Given the description of an element on the screen output the (x, y) to click on. 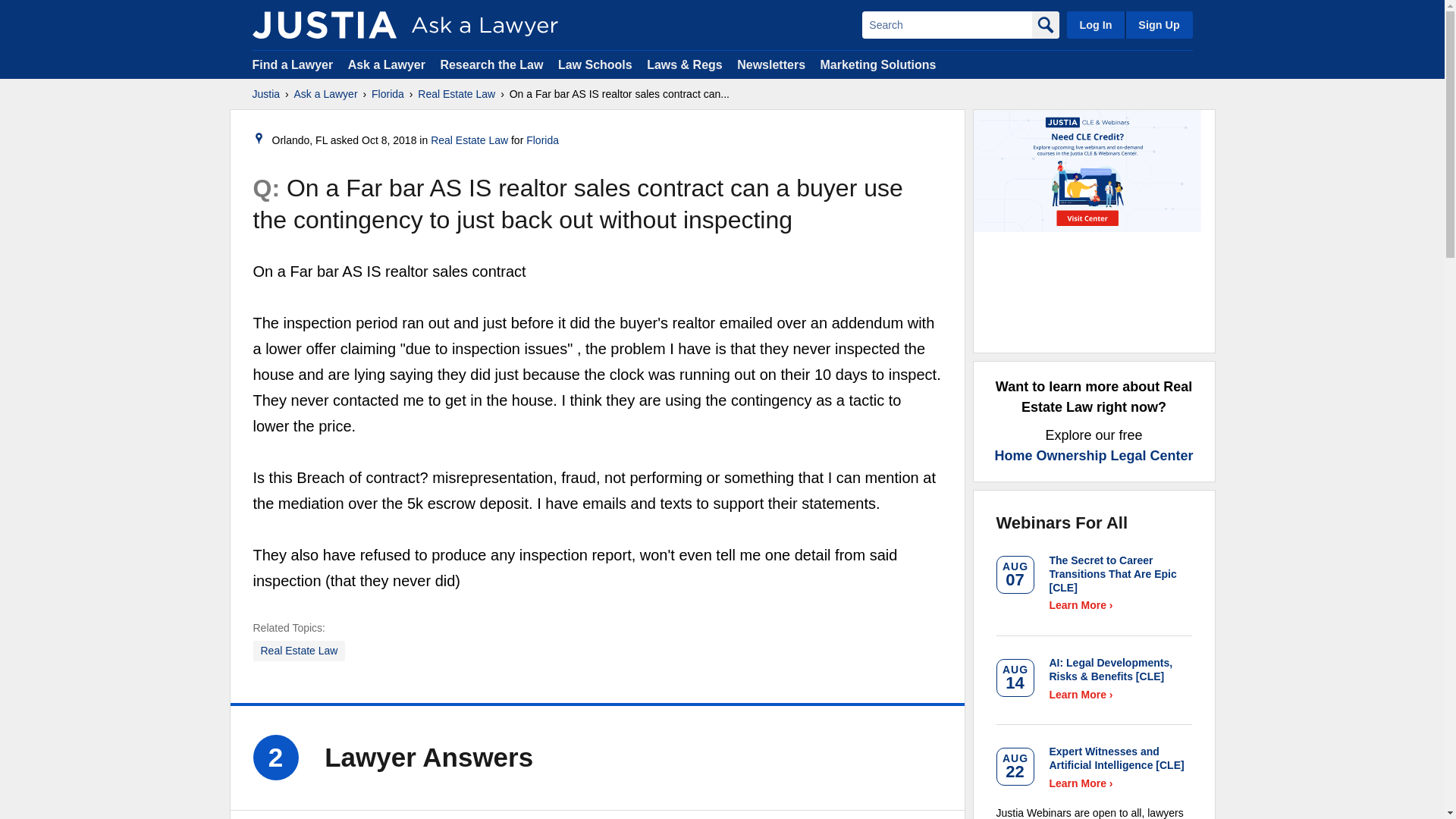
Real Estate Law (299, 650)
Log In (1094, 24)
Real Estate Law (456, 93)
Ask a Lawyer (326, 93)
Florida (387, 93)
Marketing Solutions (877, 64)
Real Estate Law (469, 140)
Sign Up (1158, 24)
Justia (265, 93)
Search (945, 24)
